Given the description of an element on the screen output the (x, y) to click on. 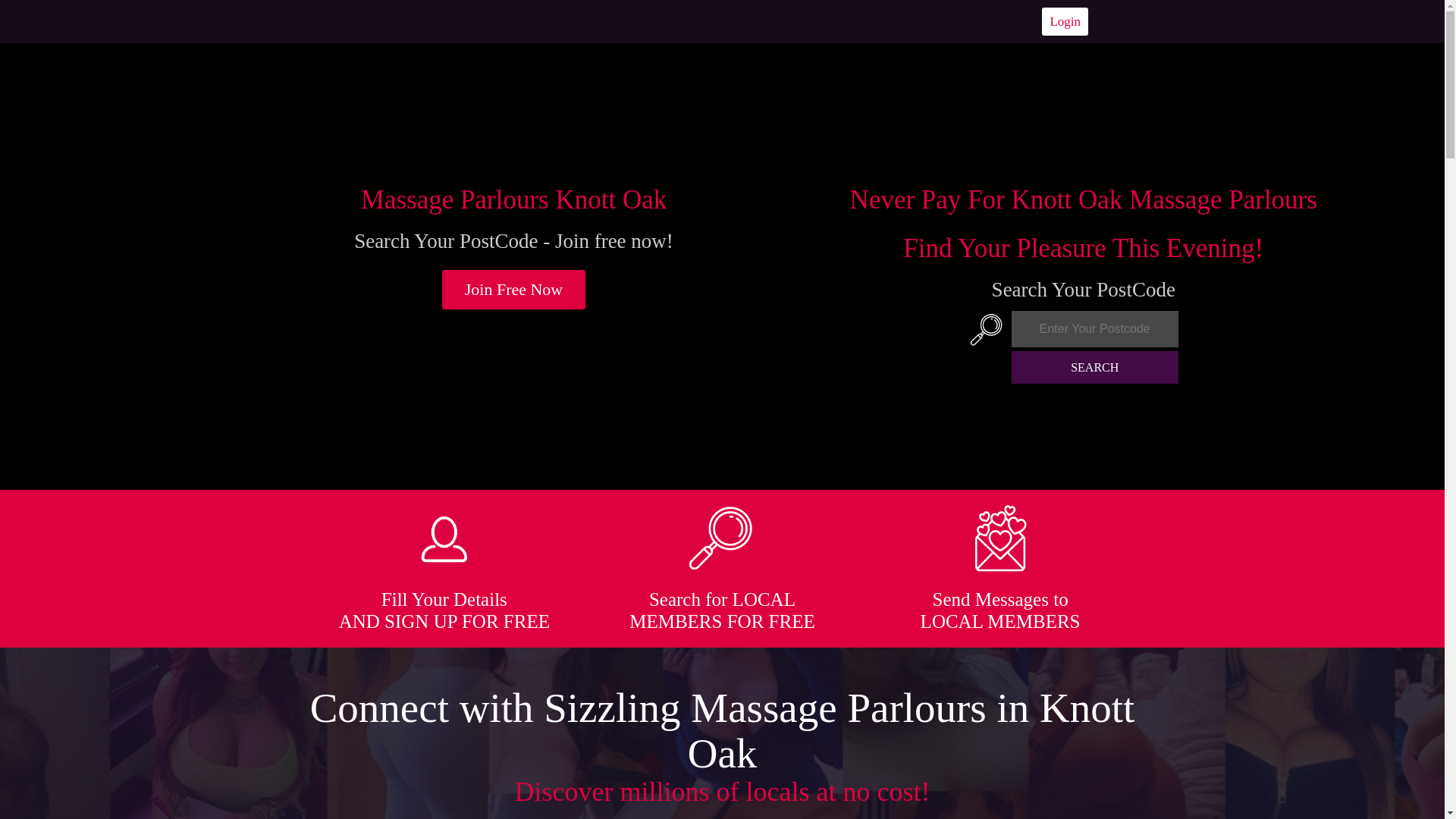
Join (514, 289)
Login (1064, 21)
Join Free Now (514, 289)
SEARCH (1094, 367)
Login (1064, 21)
